Given the description of an element on the screen output the (x, y) to click on. 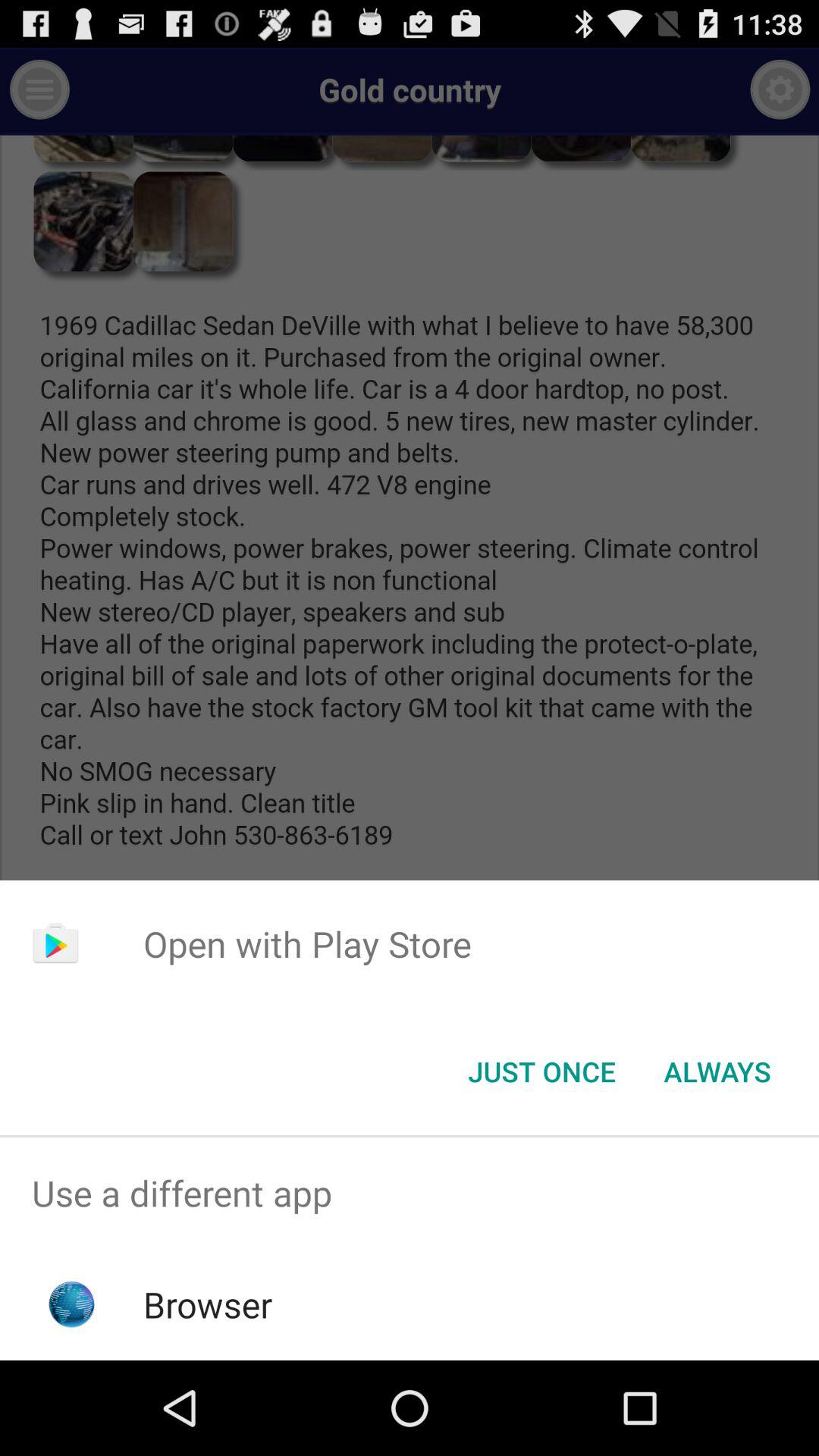
turn off app below open with play item (541, 1071)
